Given the description of an element on the screen output the (x, y) to click on. 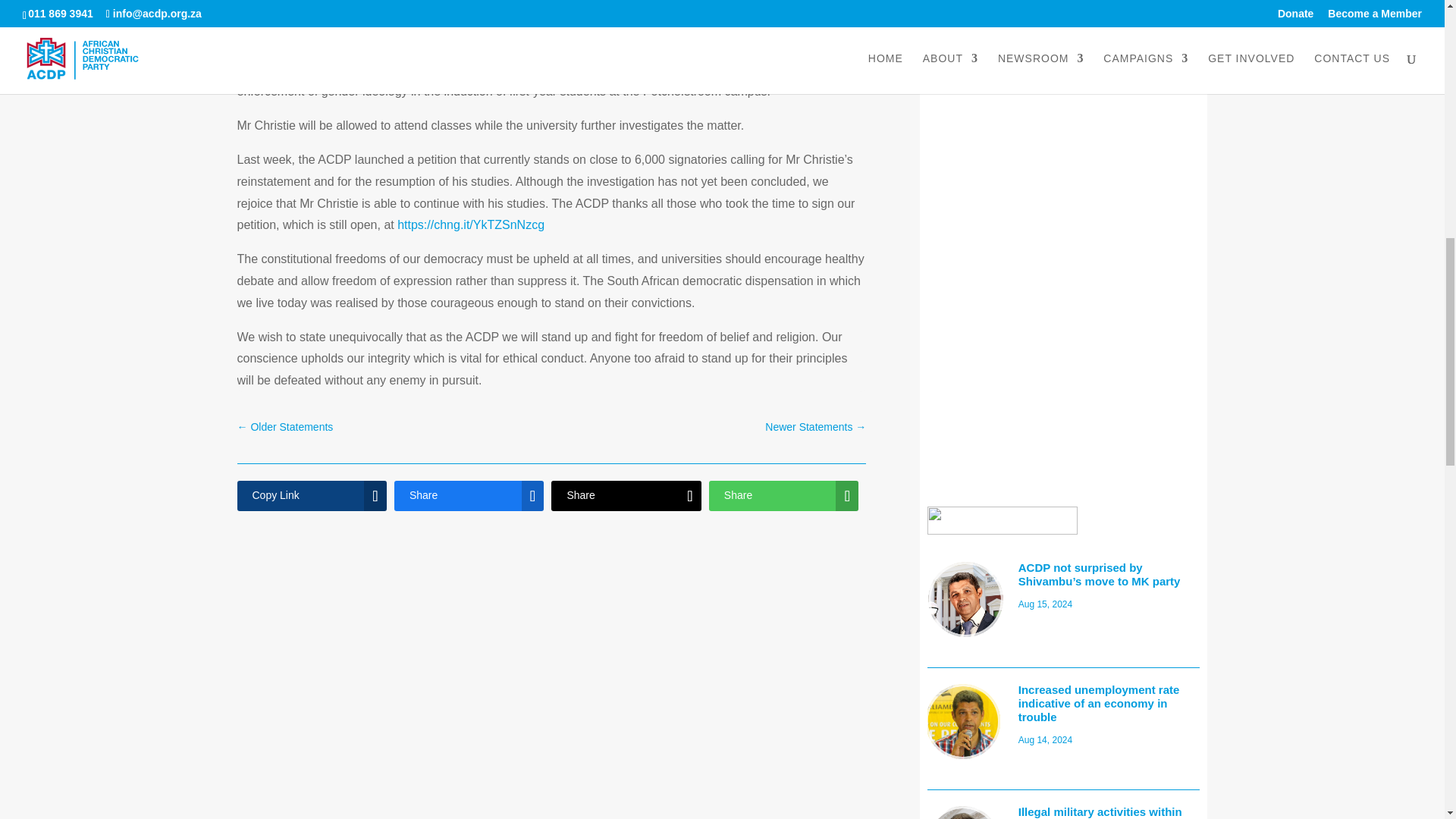
Share (625, 495)
Share (468, 495)
Copy Link (310, 495)
Share (784, 495)
